Given the description of an element on the screen output the (x, y) to click on. 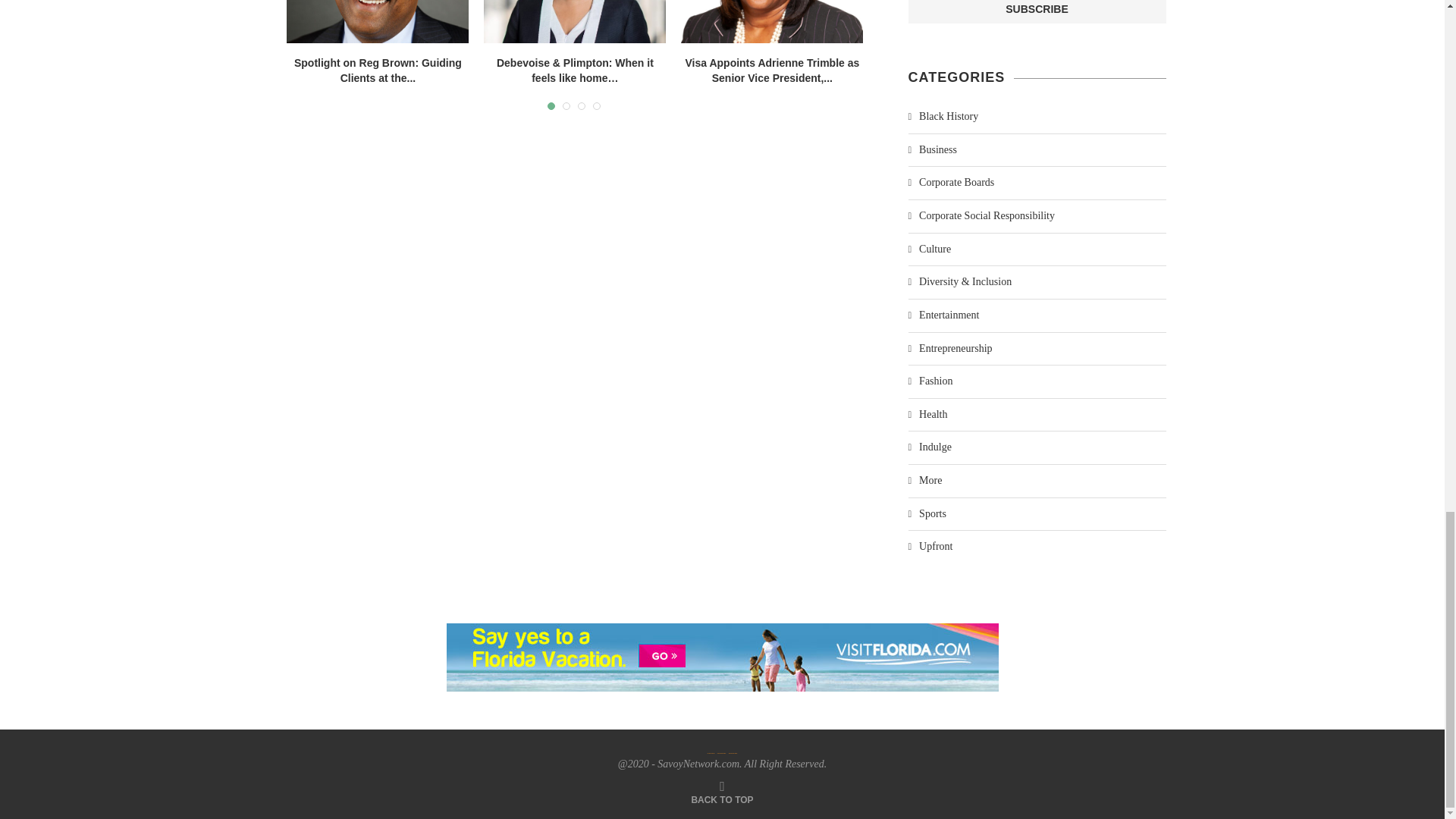
Subscribe (1037, 11)
